Given the description of an element on the screen output the (x, y) to click on. 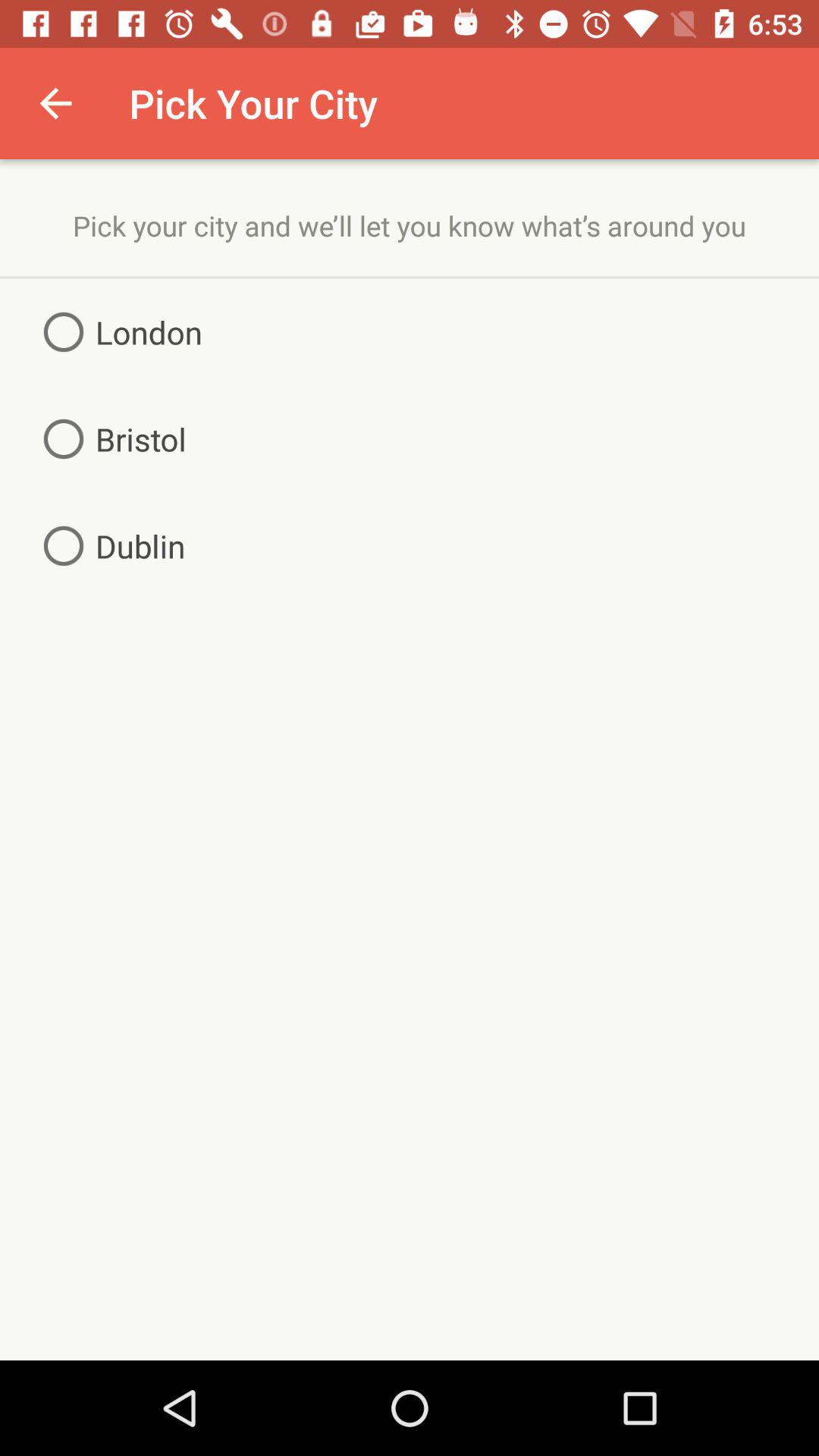
turn on the icon to the left of  pick your city (55, 103)
